Given the description of an element on the screen output the (x, y) to click on. 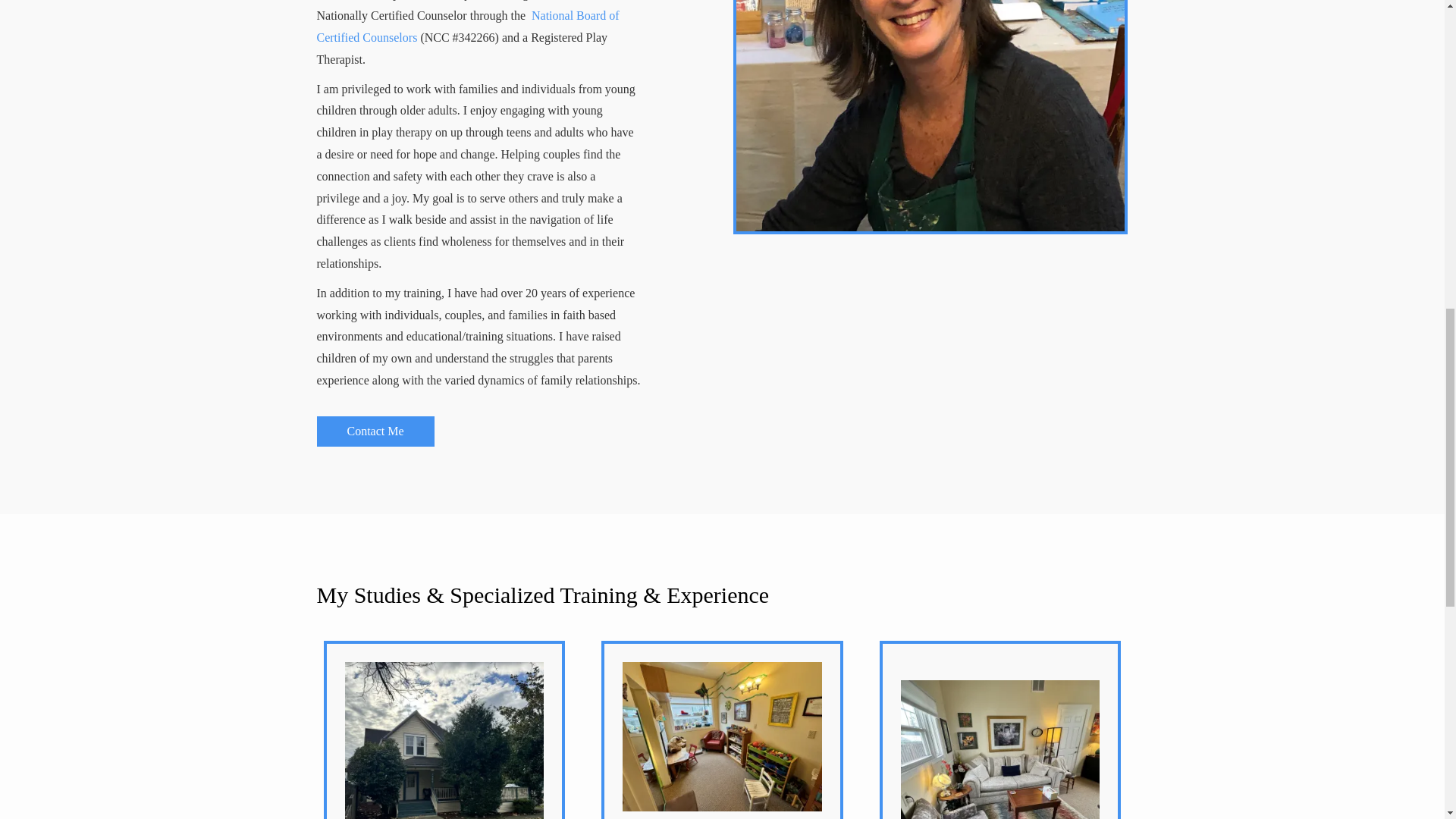
Contact Me (375, 431)
National Board of Certified Counselors (468, 26)
